Given the description of an element on the screen output the (x, y) to click on. 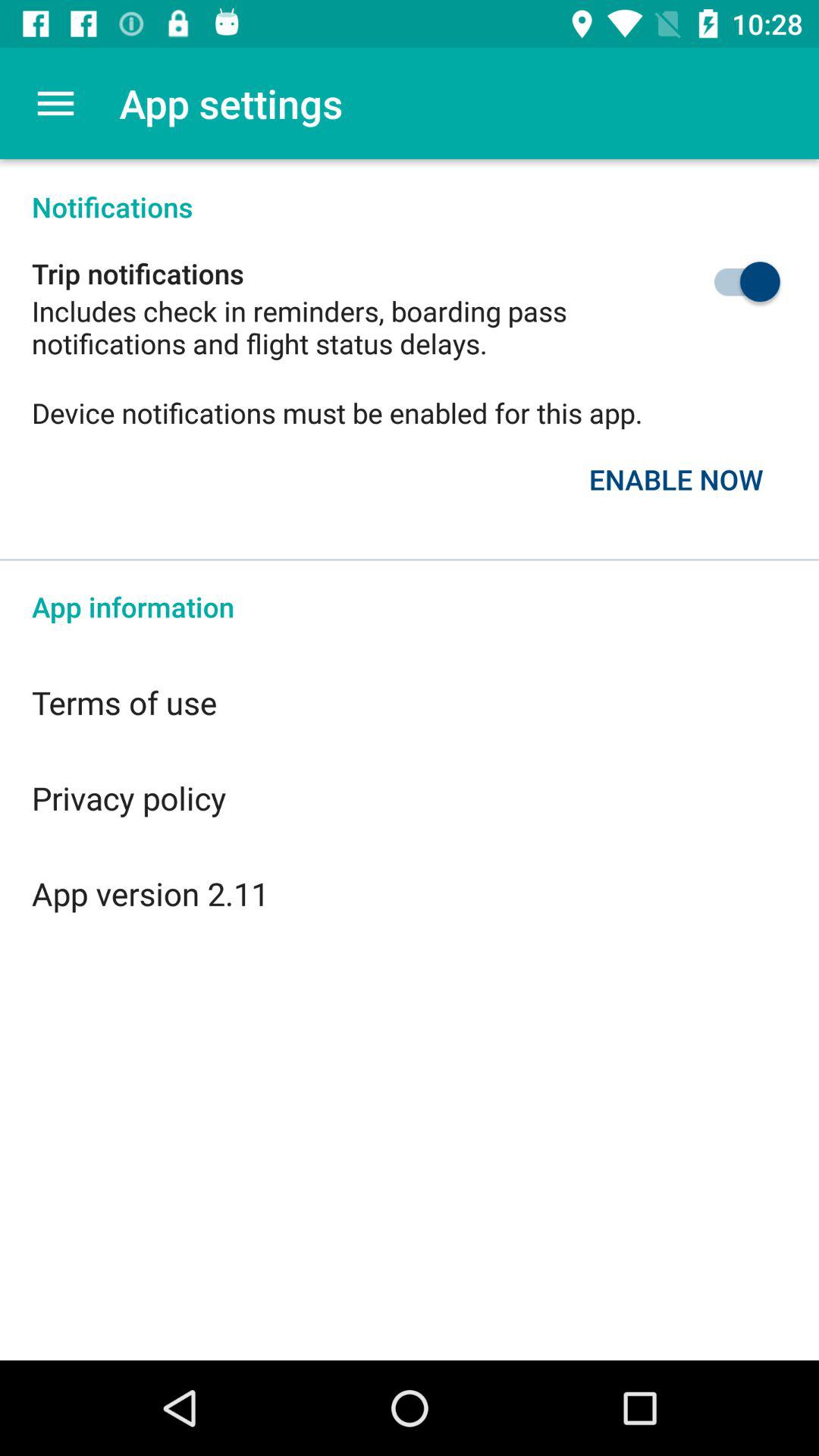
tap icon to the left of the app settings (55, 103)
